Given the description of an element on the screen output the (x, y) to click on. 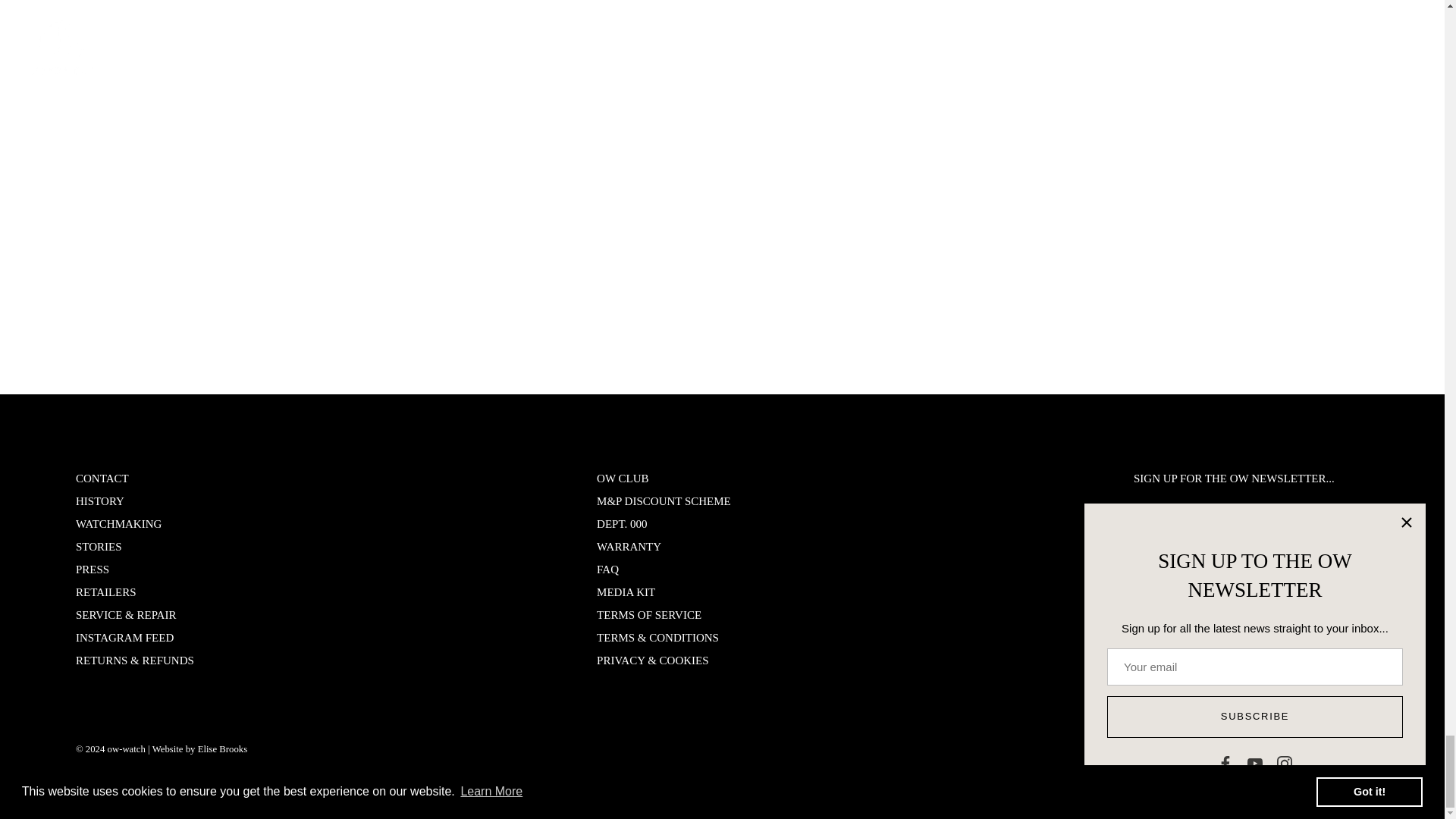
Instagram (1213, 580)
RIGHT ARROW LONG (1361, 525)
American Express (1210, 752)
Apple Pay (1245, 752)
PayPal (1317, 752)
Visa (1353, 752)
Mastercard (1281, 752)
Youtube (1177, 580)
